Given the description of an element on the screen output the (x, y) to click on. 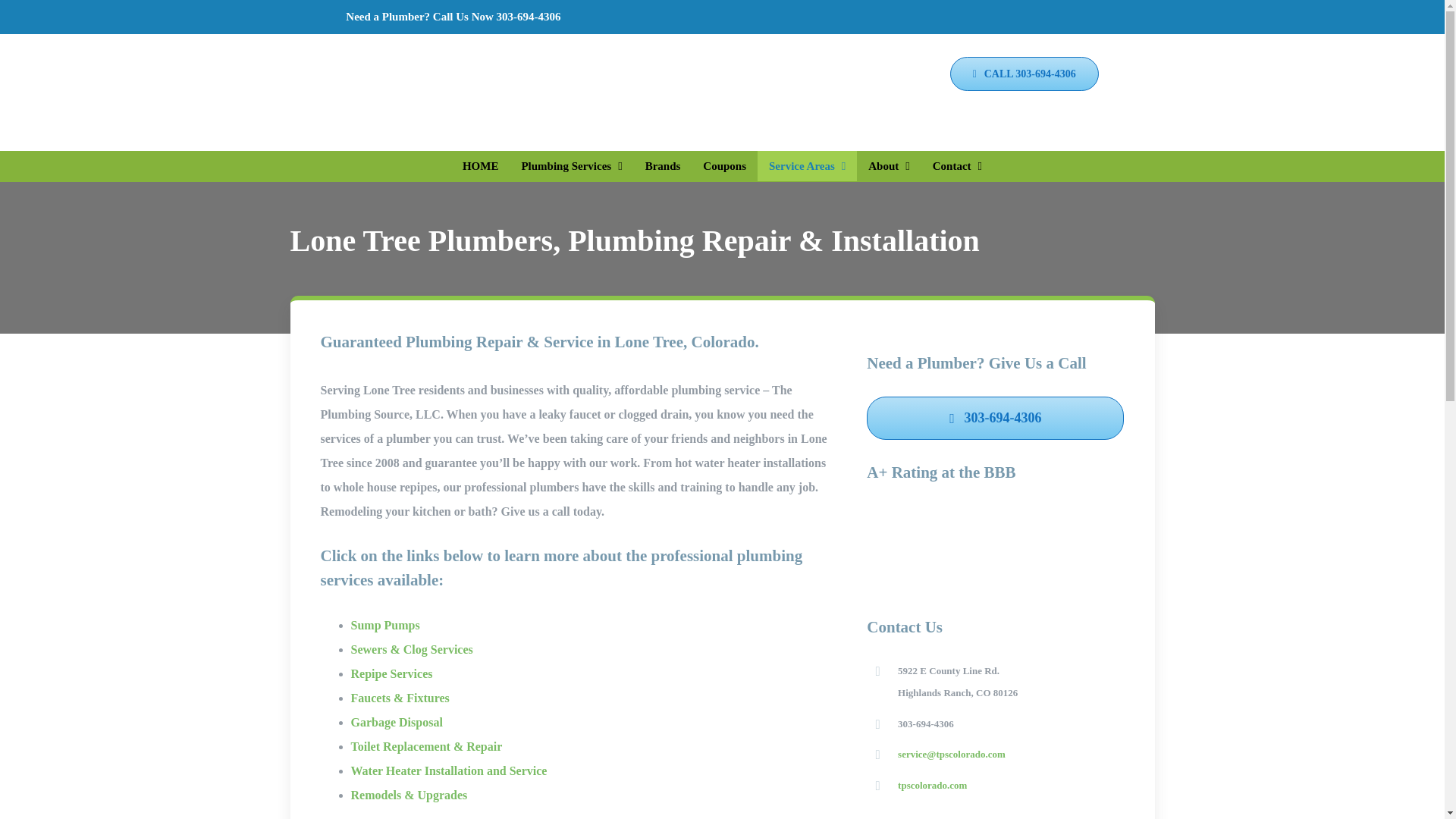
Brands (663, 165)
HOME (481, 165)
Plumbing Services (571, 165)
About (889, 165)
Coupons (724, 165)
Get a Quote on your Plumbing Project (956, 117)
Contact (956, 165)
Service Areas (807, 165)
CALL 303-694-4306 (1024, 73)
